Given the description of an element on the screen output the (x, y) to click on. 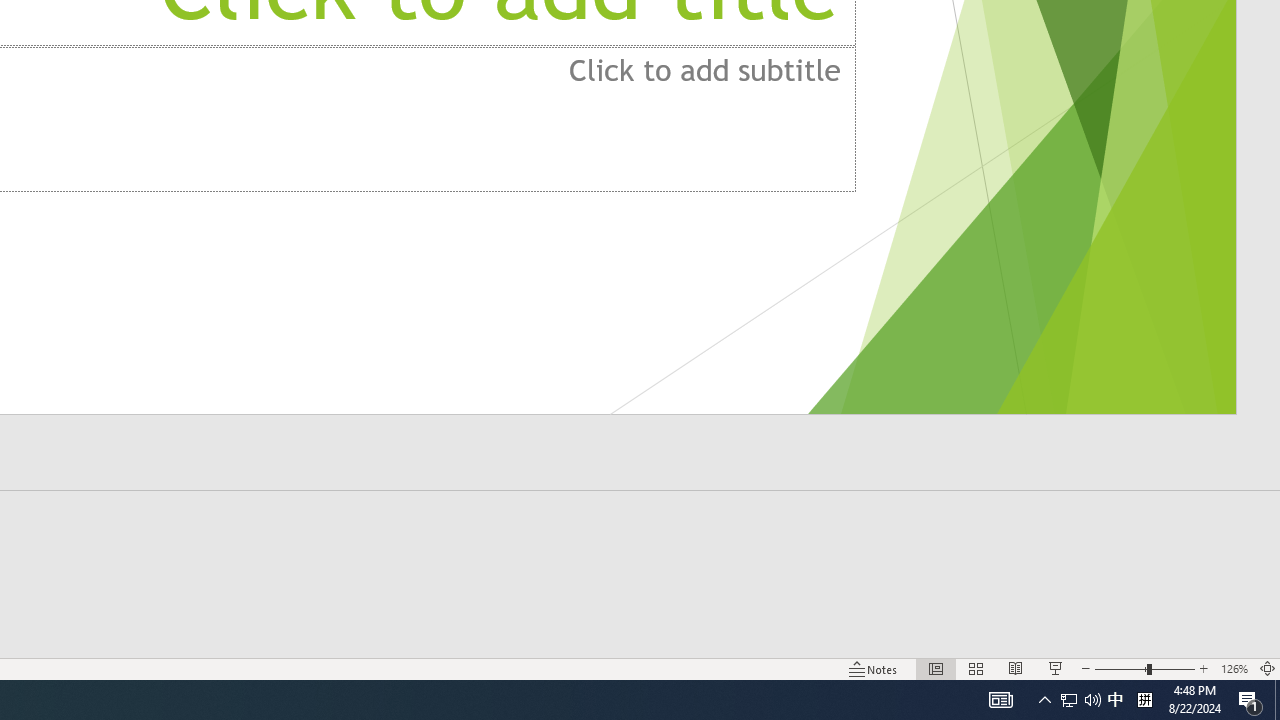
Zoom 126% (1234, 668)
